Given the description of an element on the screen output the (x, y) to click on. 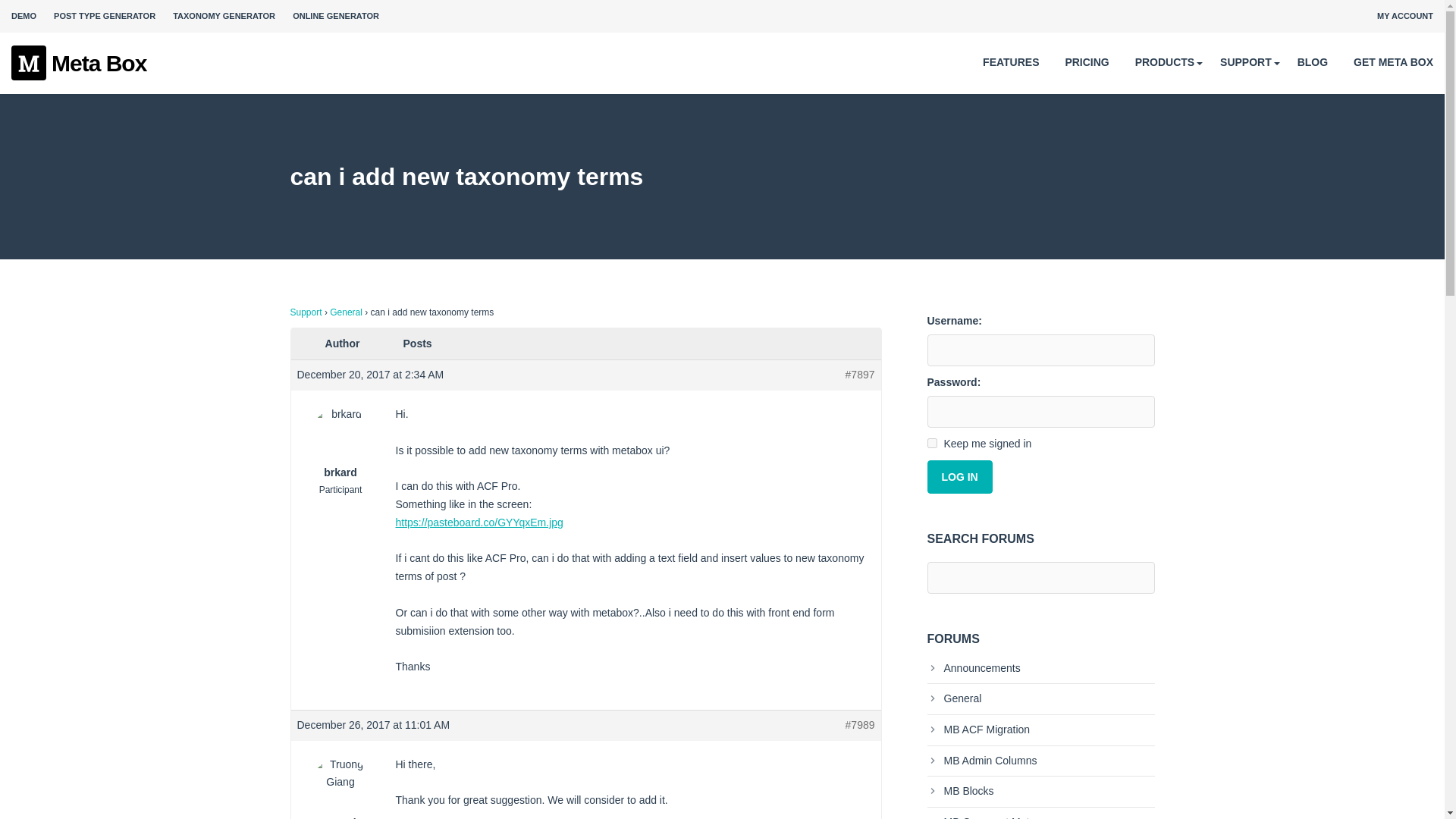
PRICING (1086, 62)
Meta Box (79, 63)
Support (305, 312)
TAXONOMY GENERATOR (224, 15)
LOG IN (958, 476)
View Truong Giang's profile (340, 797)
MB Admin Columns (981, 760)
GET META BOX (1393, 62)
View brkard's profile (340, 442)
General (346, 312)
